Given the description of an element on the screen output the (x, y) to click on. 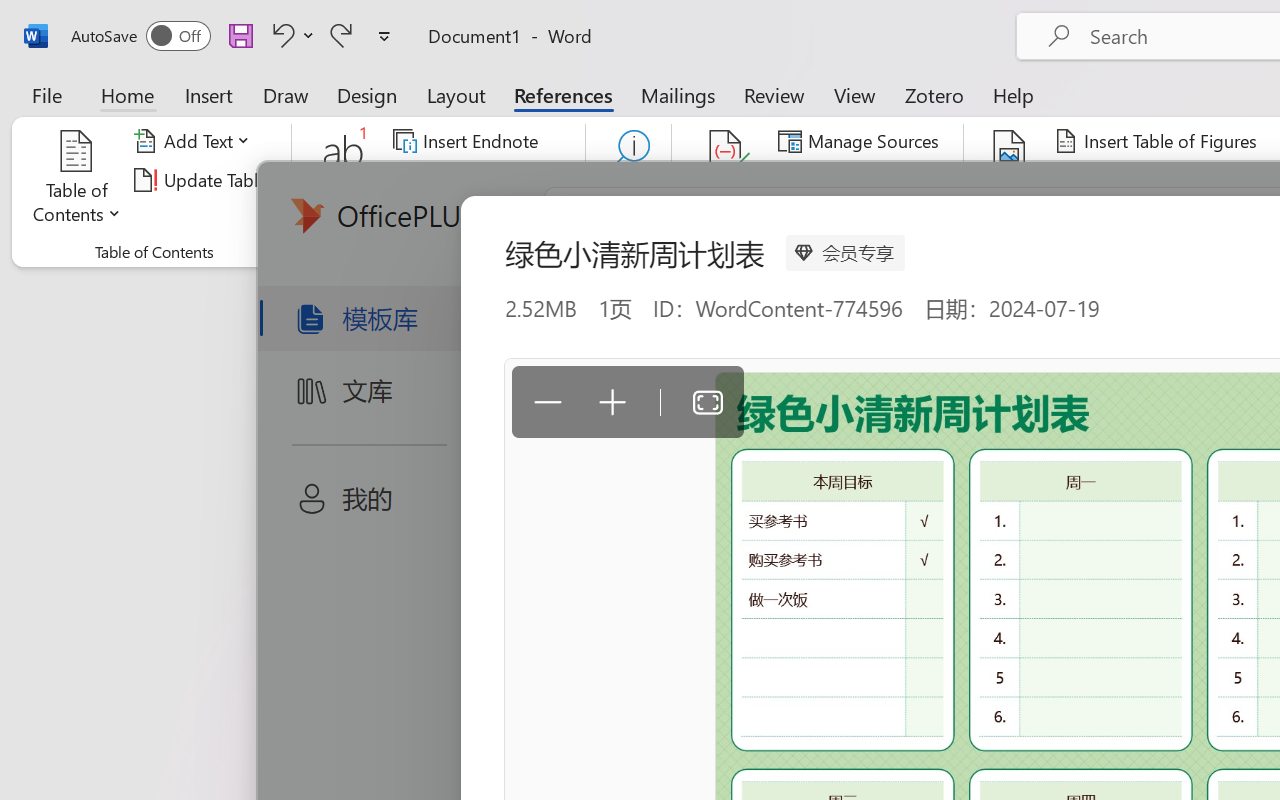
Search (628, 179)
Bibliography (854, 218)
Next Footnote (468, 179)
Insert Endnote (468, 141)
Show Notes (459, 218)
Add Text (195, 141)
Next Footnote (479, 179)
Insert Caption... (1009, 180)
Undo Apply Quick Style Set (280, 35)
